Given the description of an element on the screen output the (x, y) to click on. 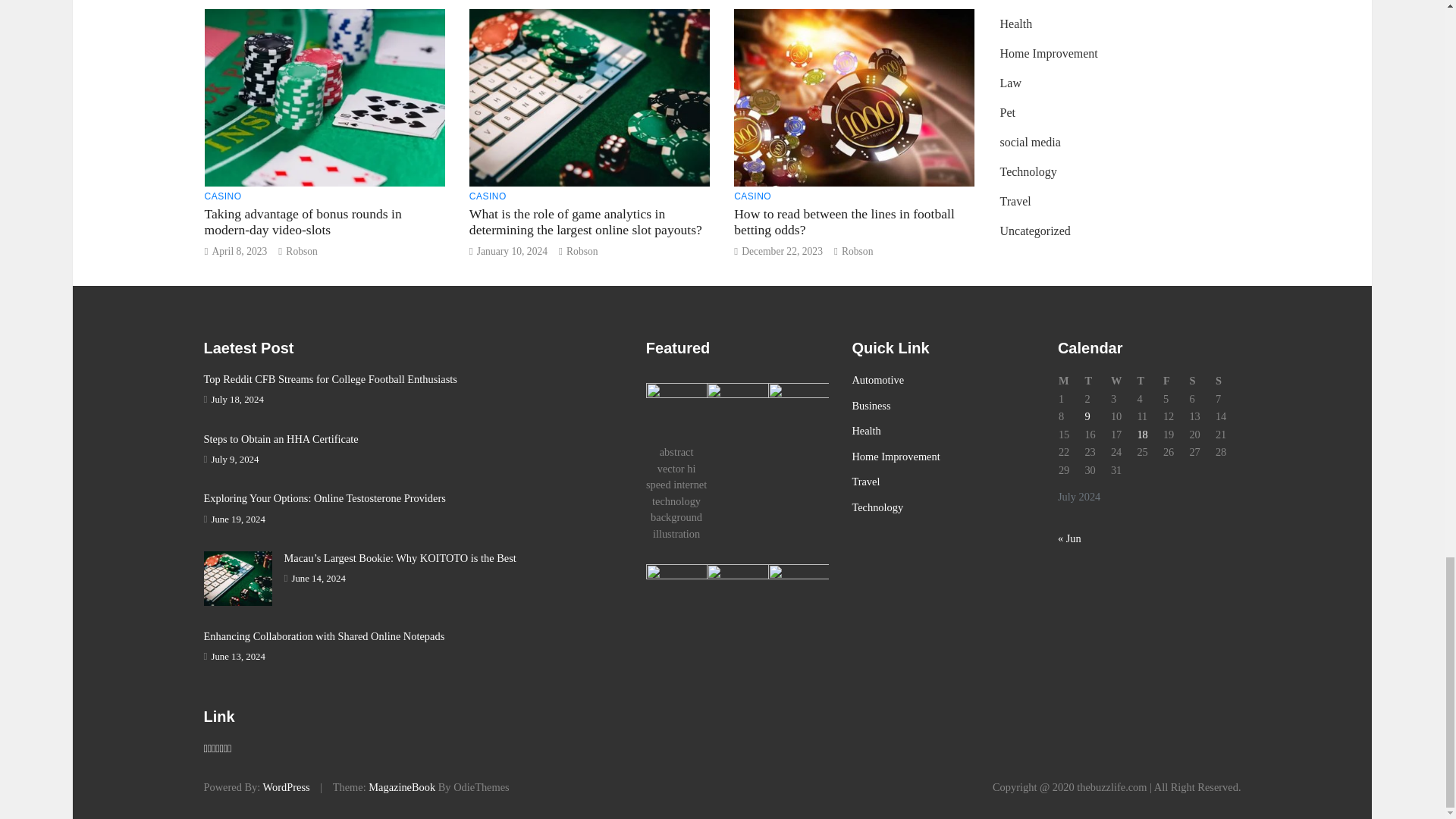
Thursday (1148, 381)
Robson (301, 251)
Sunday (1227, 381)
Robson (582, 251)
January 10, 2024 (512, 251)
Monday (1071, 381)
April 8, 2023 (238, 251)
Saturday (1201, 381)
CASINO (752, 196)
Robson (857, 251)
Friday (1175, 381)
Tuesday (1096, 381)
Wednesday (1123, 381)
CASINO (487, 196)
